Given the description of an element on the screen output the (x, y) to click on. 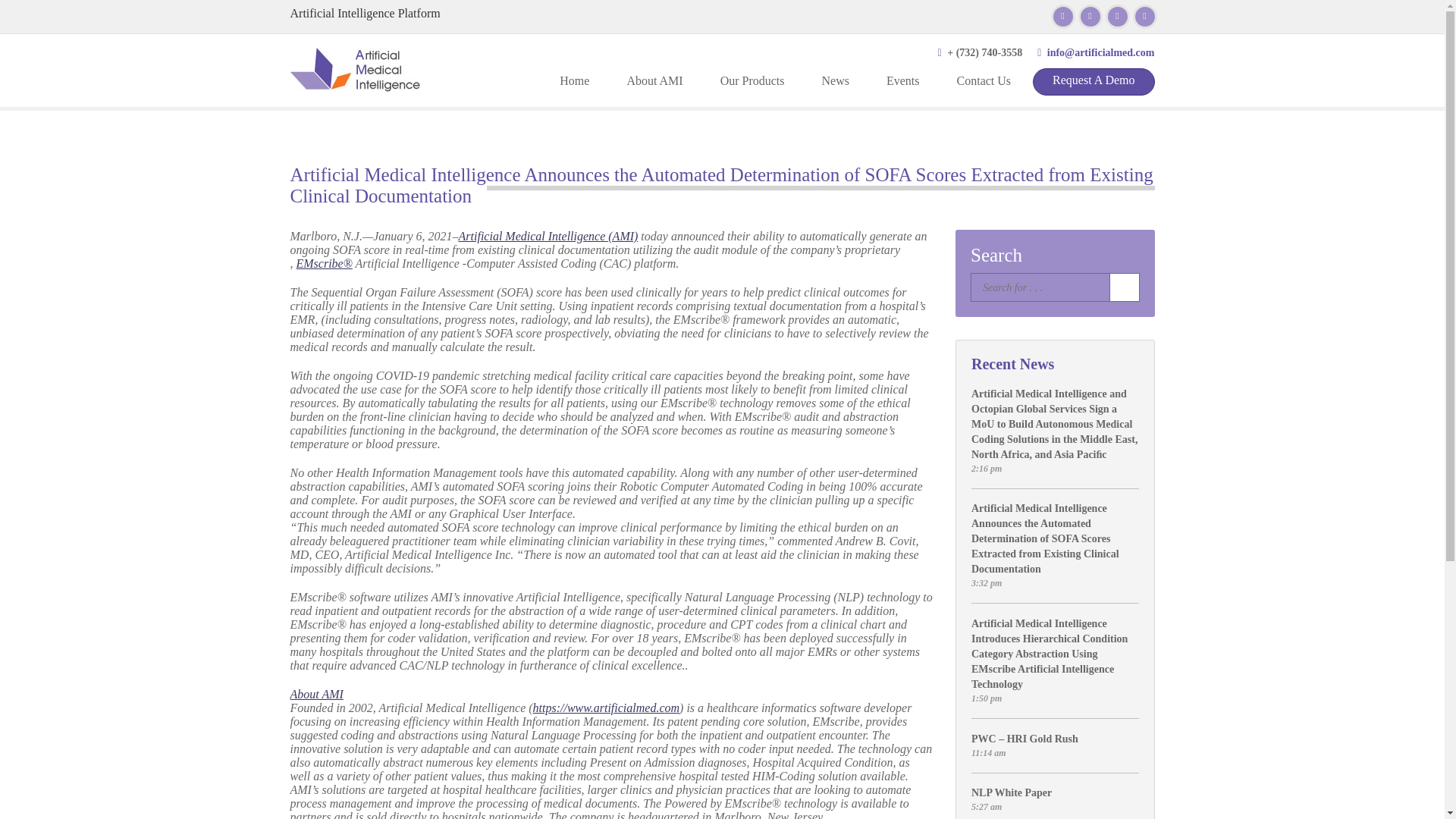
Home (574, 80)
Request A Demo (1093, 81)
About AMI (654, 80)
Contact Us (984, 80)
Submit (1123, 287)
Our Products (751, 80)
Events (902, 80)
News (835, 80)
